Given the description of an element on the screen output the (x, y) to click on. 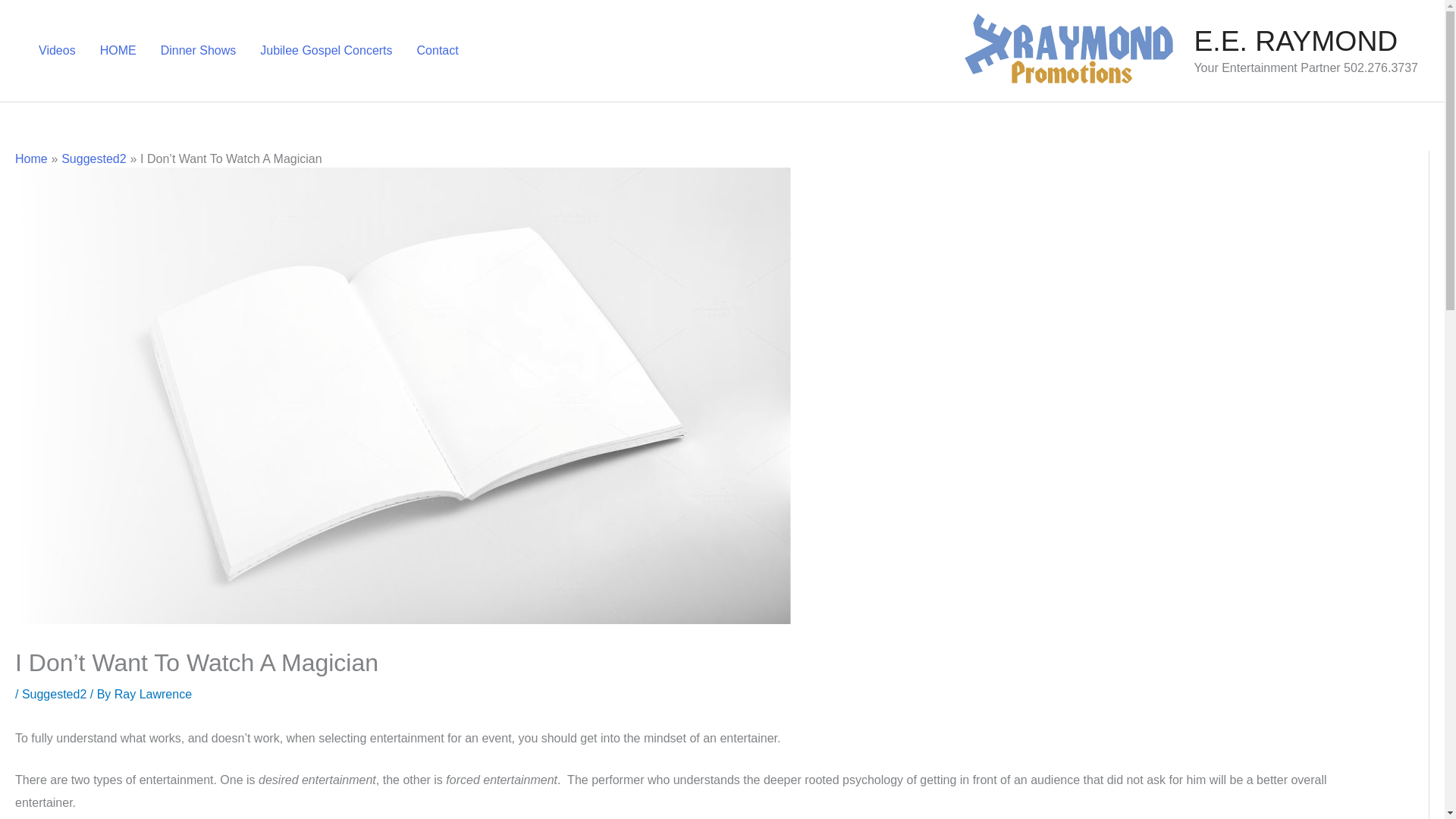
Contact (437, 50)
Jubilee Gospel Concerts (325, 50)
Suggested2 (53, 694)
Home (31, 158)
E.E. RAYMOND (1295, 40)
Videos (56, 50)
Suggested2 (93, 158)
Ray Lawrence (153, 694)
HOME (117, 50)
View all posts by Ray Lawrence (153, 694)
